Given the description of an element on the screen output the (x, y) to click on. 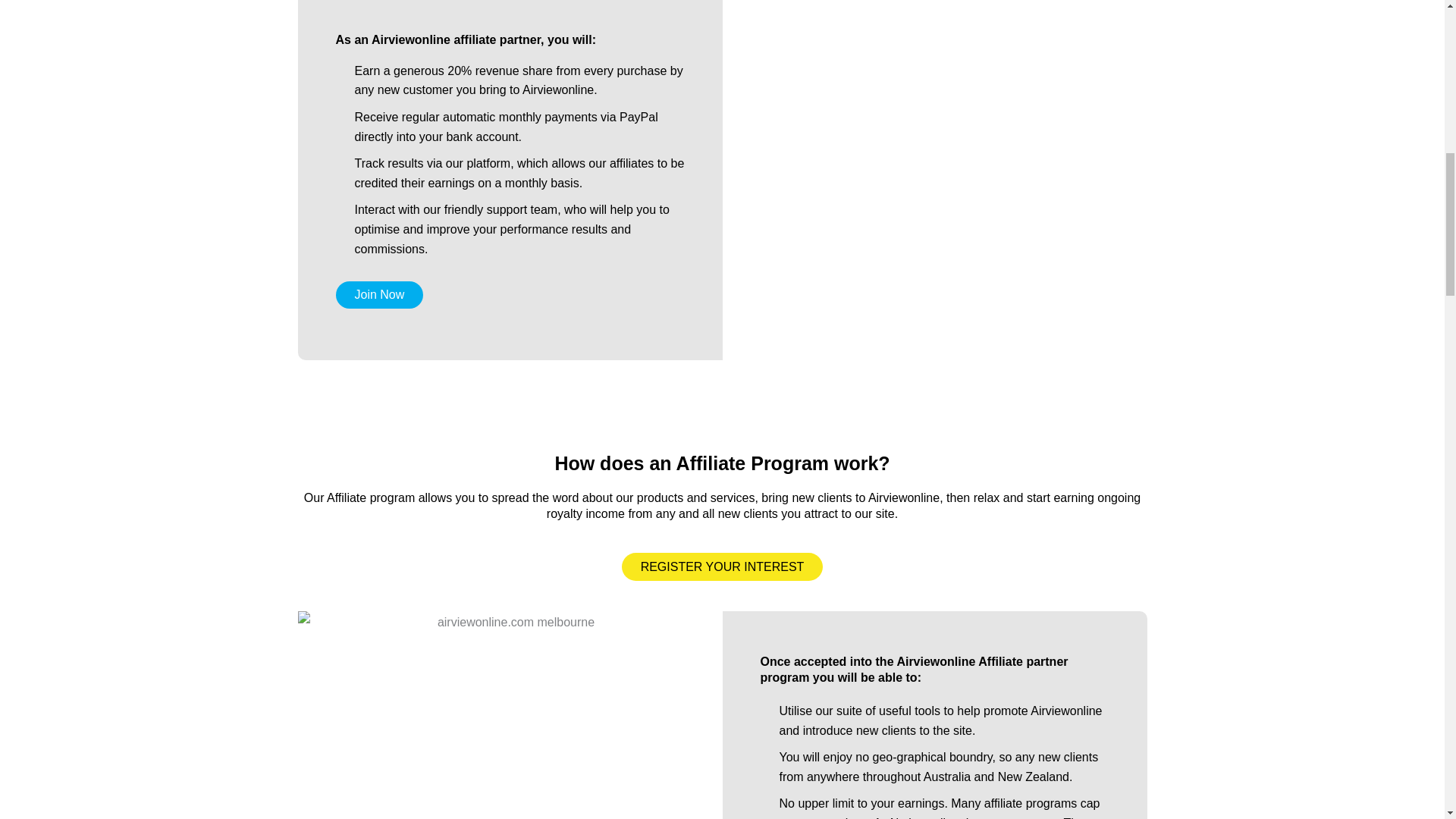
REGISTER YOUR INTEREST (722, 566)
Join Now (378, 294)
